Given the description of an element on the screen output the (x, y) to click on. 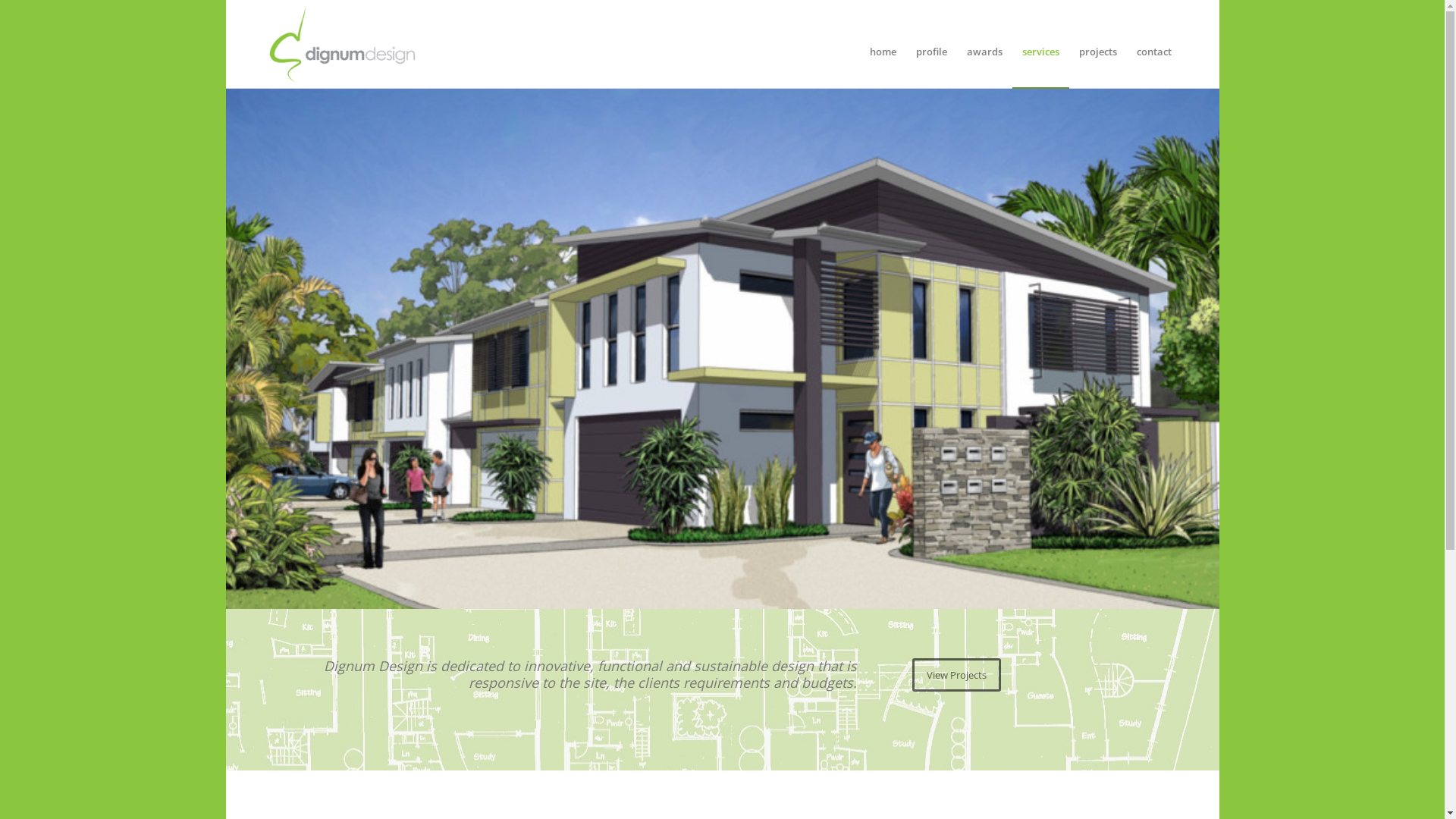
services Element type: text (1039, 43)
home Element type: text (882, 43)
banner-services Element type: hover (722, 348)
profile Element type: text (930, 43)
logo Element type: hover (341, 43)
contact Element type: text (1153, 43)
awards Element type: text (984, 43)
projects Element type: text (1097, 43)
View Projects Element type: text (956, 674)
